Given the description of an element on the screen output the (x, y) to click on. 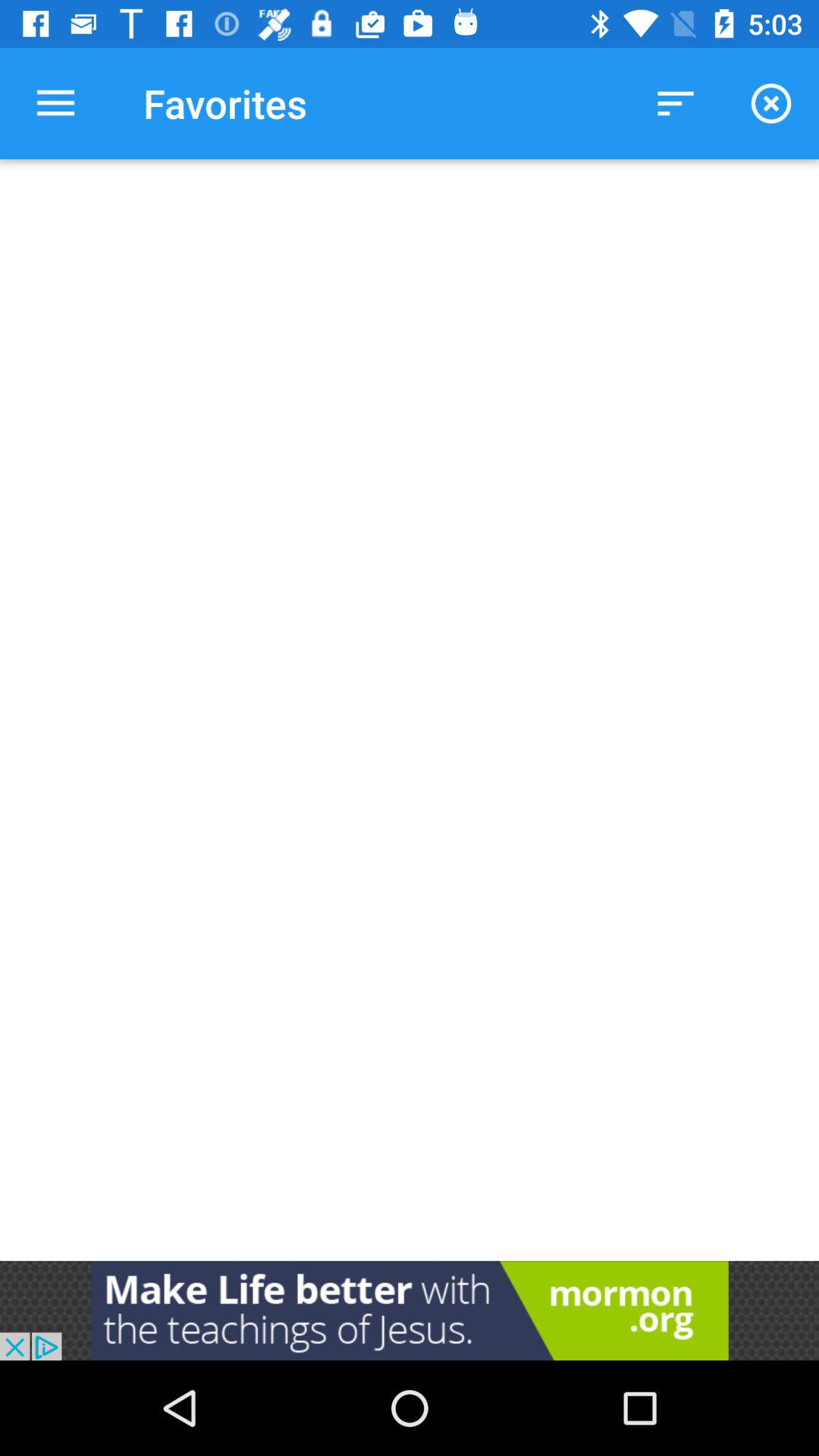
application (409, 1310)
